Given the description of an element on the screen output the (x, y) to click on. 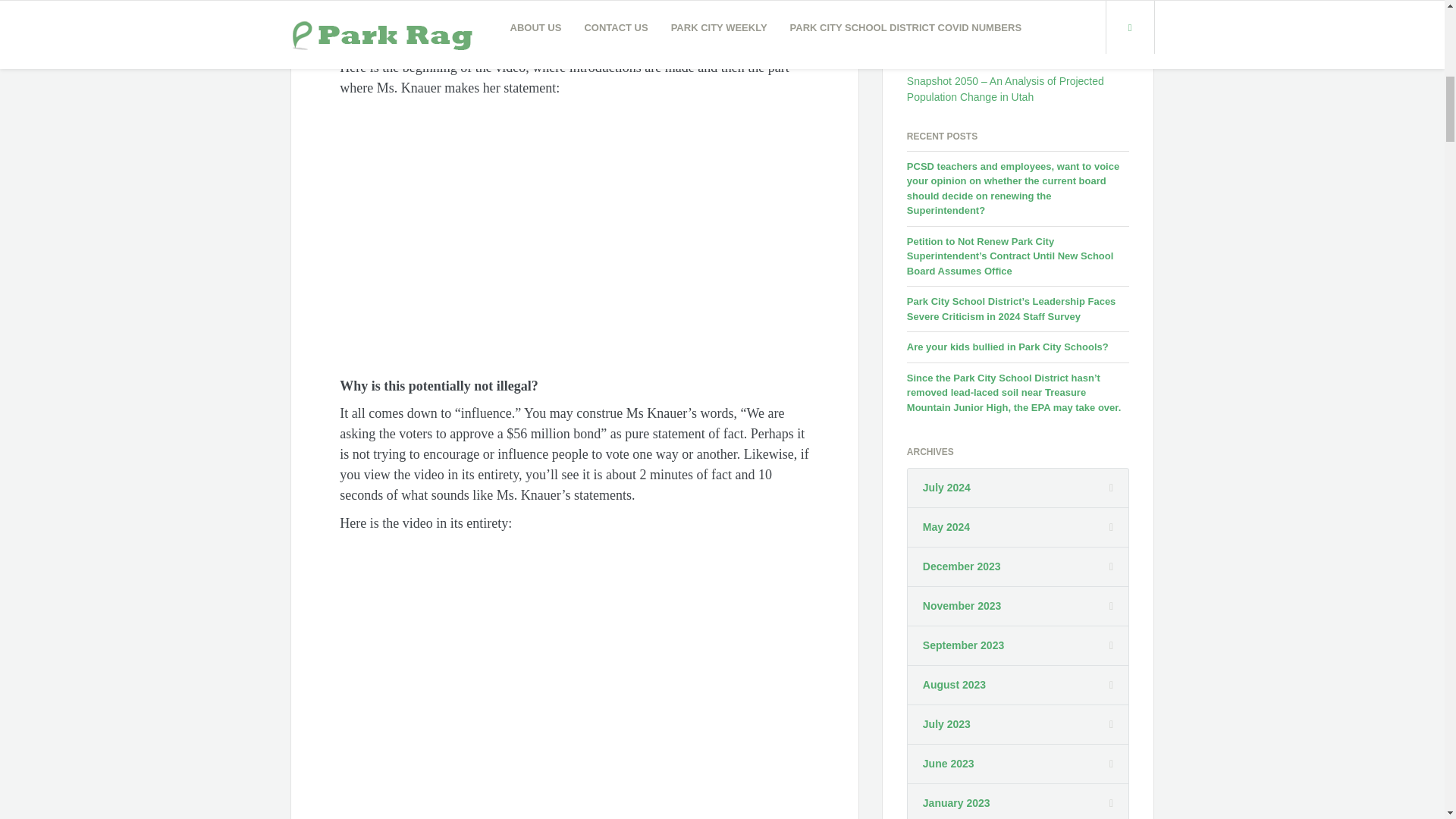
November 2023 (962, 606)
Park City Climate Change Assessment (998, 26)
Are your kids bullied in Park City Schools? (1007, 346)
December 2023 (962, 566)
July 2024 (947, 487)
May 2024 (946, 527)
Summit County Short Term Transportation Needs Identification (1006, 54)
